Given the description of an element on the screen output the (x, y) to click on. 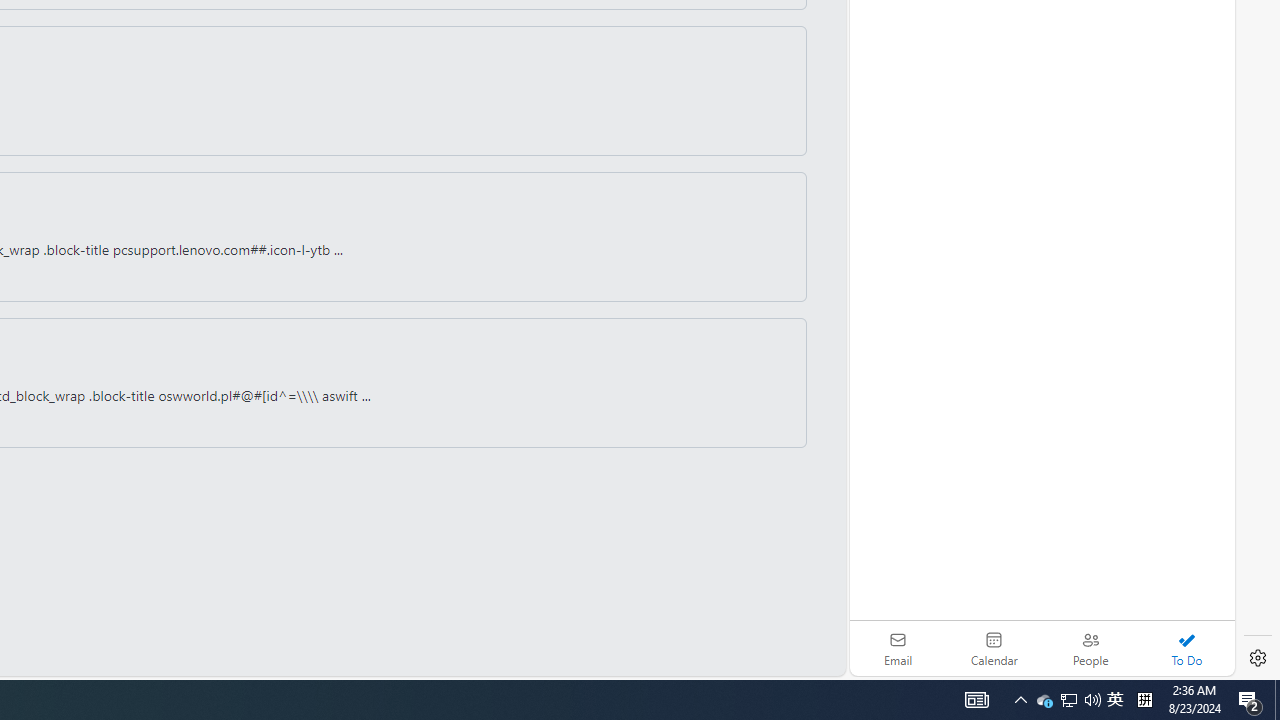
Calendar. Date today is 22 (994, 648)
Email (898, 648)
People (1090, 648)
To Do (1186, 648)
